Given the description of an element on the screen output the (x, y) to click on. 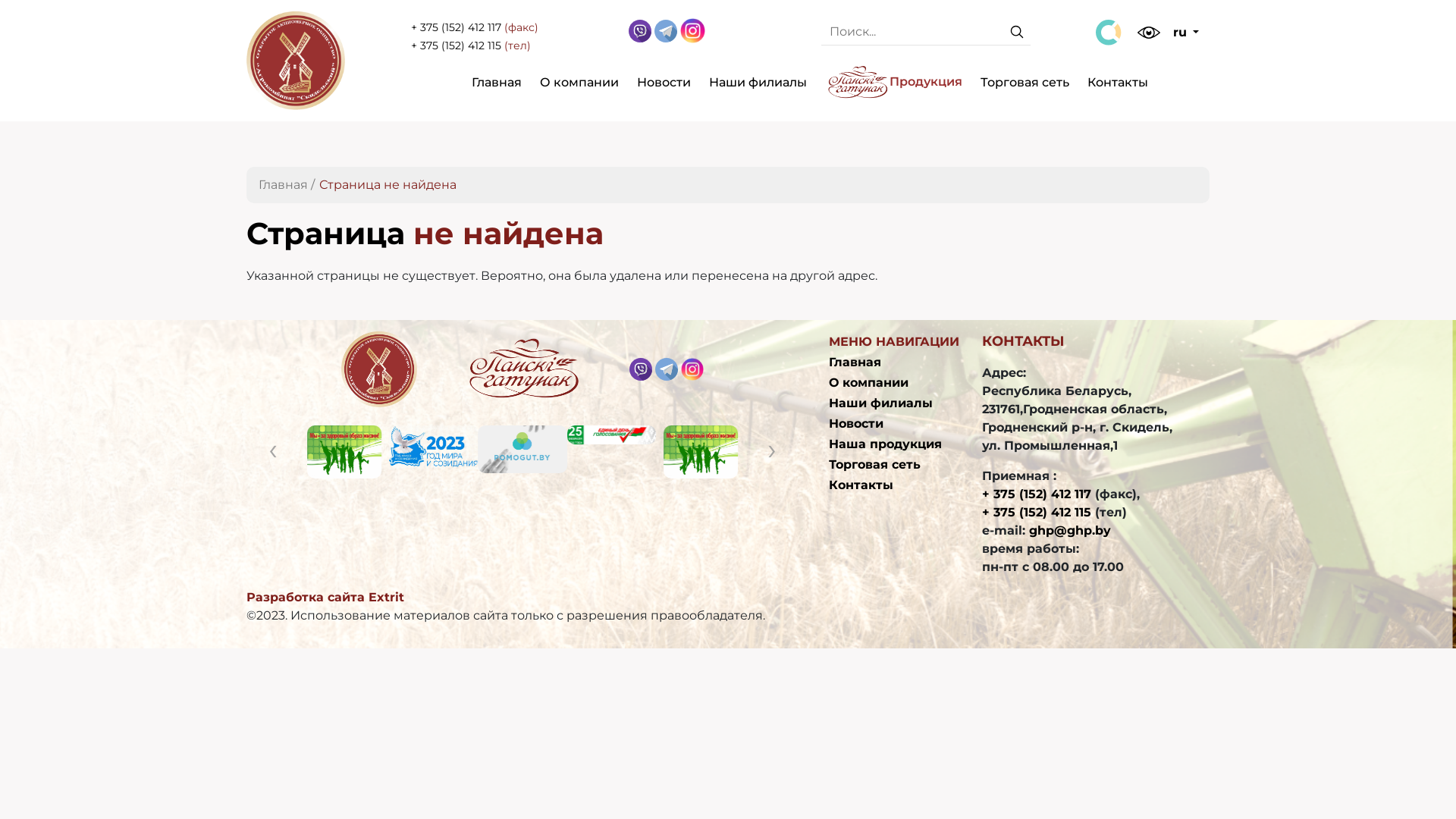
+ 375 (152) 412 115 Element type: text (1036, 512)
ghp@ghp.by Element type: text (1069, 530)
+ 375 (152) 412 117 Element type: text (456, 27)
ru Element type: text (1185, 32)
+ 375 (152) 412 115 Element type: text (457, 45)
+ 375 (152) 412 117 Element type: text (1036, 493)
